Given the description of an element on the screen output the (x, y) to click on. 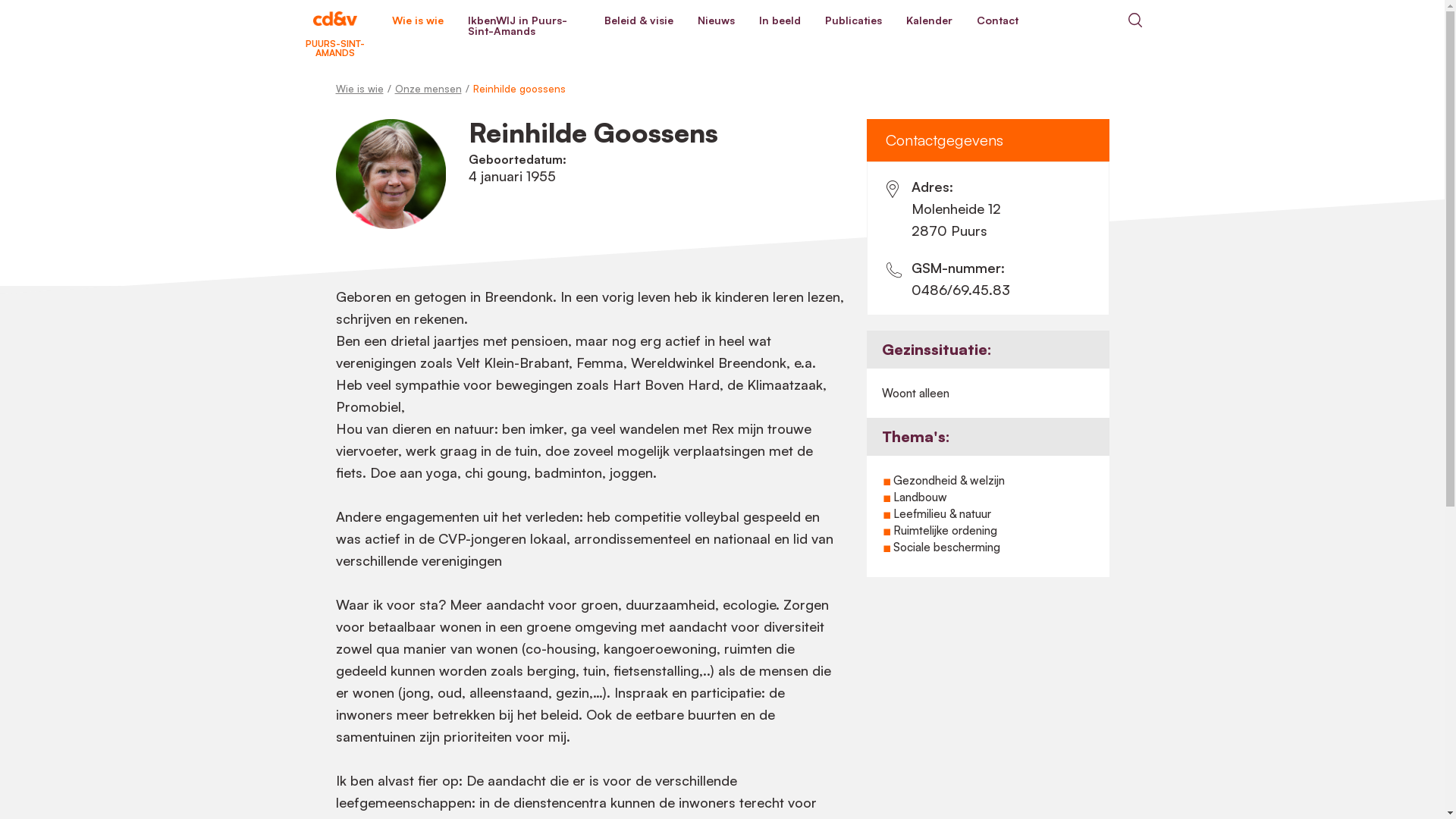
Kalender Element type: text (928, 20)
In beeld Element type: text (779, 20)
Beleid & visie Element type: text (637, 20)
Onze mensen Element type: text (427, 88)
Nieuws Element type: text (715, 20)
Contact Element type: text (997, 20)
IkbenWIJ in Puurs-Sint-Amands Element type: text (523, 25)
Search Element type: hover (1134, 19)
Publicaties Element type: text (853, 20)
PUURS-SINT-AMANDS Element type: text (334, 19)
Wie is wie Element type: text (417, 20)
Wie is wie Element type: text (358, 88)
